Given the description of an element on the screen output the (x, y) to click on. 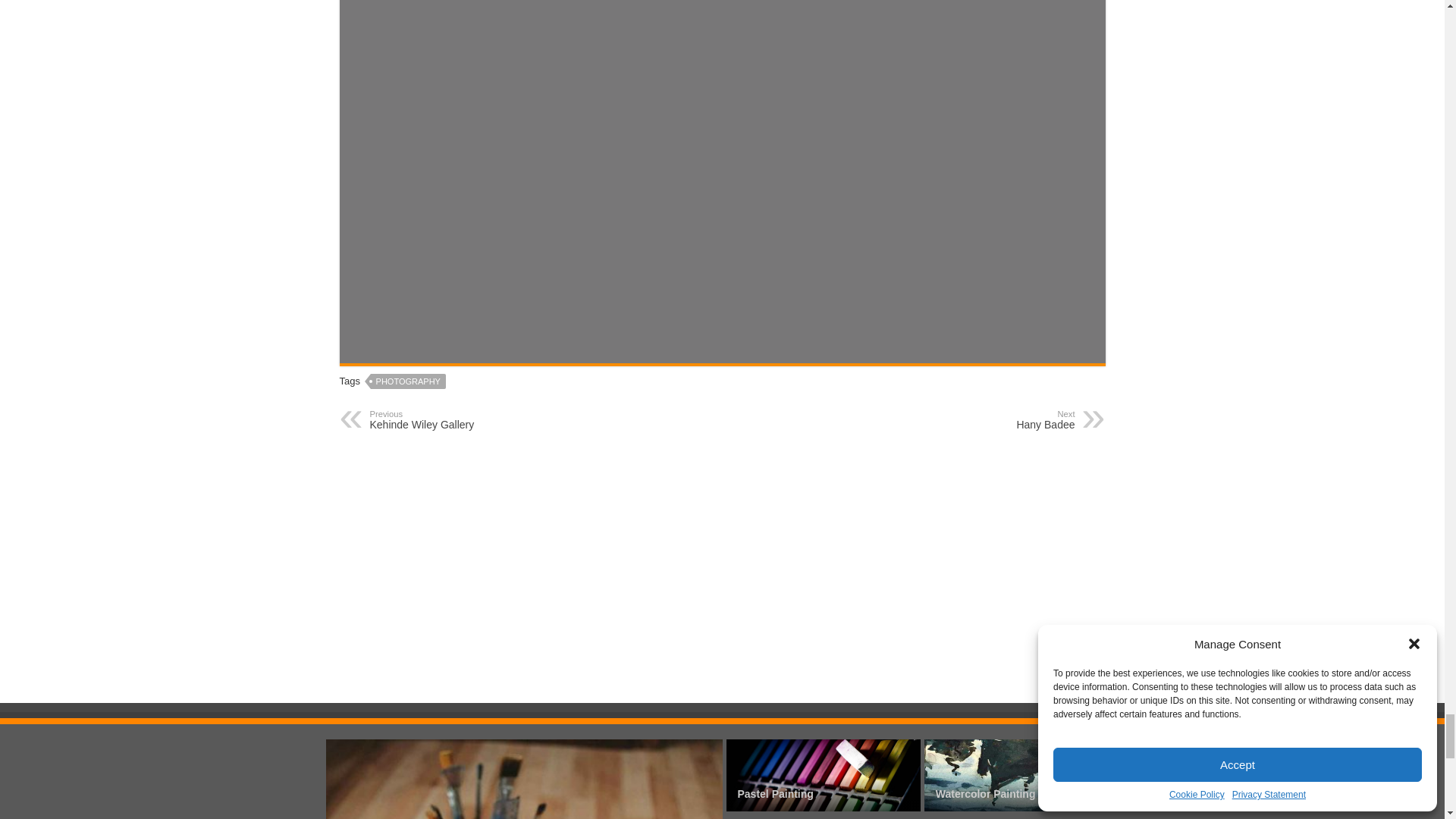
PHOTOGRAPHY (408, 381)
